Given the description of an element on the screen output the (x, y) to click on. 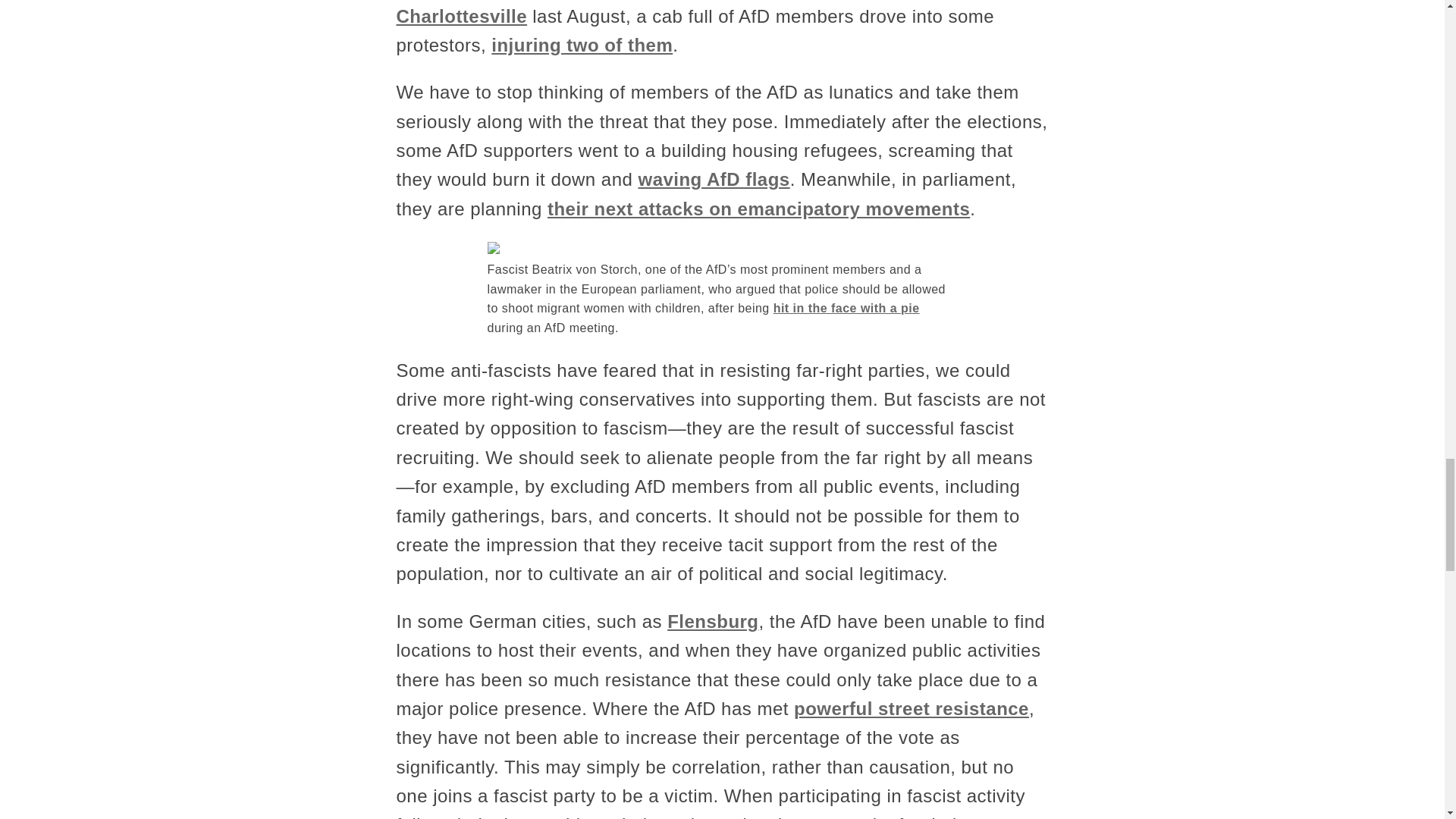
waving AfD flags (713, 178)
hit in the face with a pie (846, 308)
their next attacks on emancipatory movements (758, 209)
the fascist murder of Heather Heyer in Charlottesville (657, 12)
injuring two of them (582, 45)
Flensburg (712, 620)
